Given the description of an element on the screen output the (x, y) to click on. 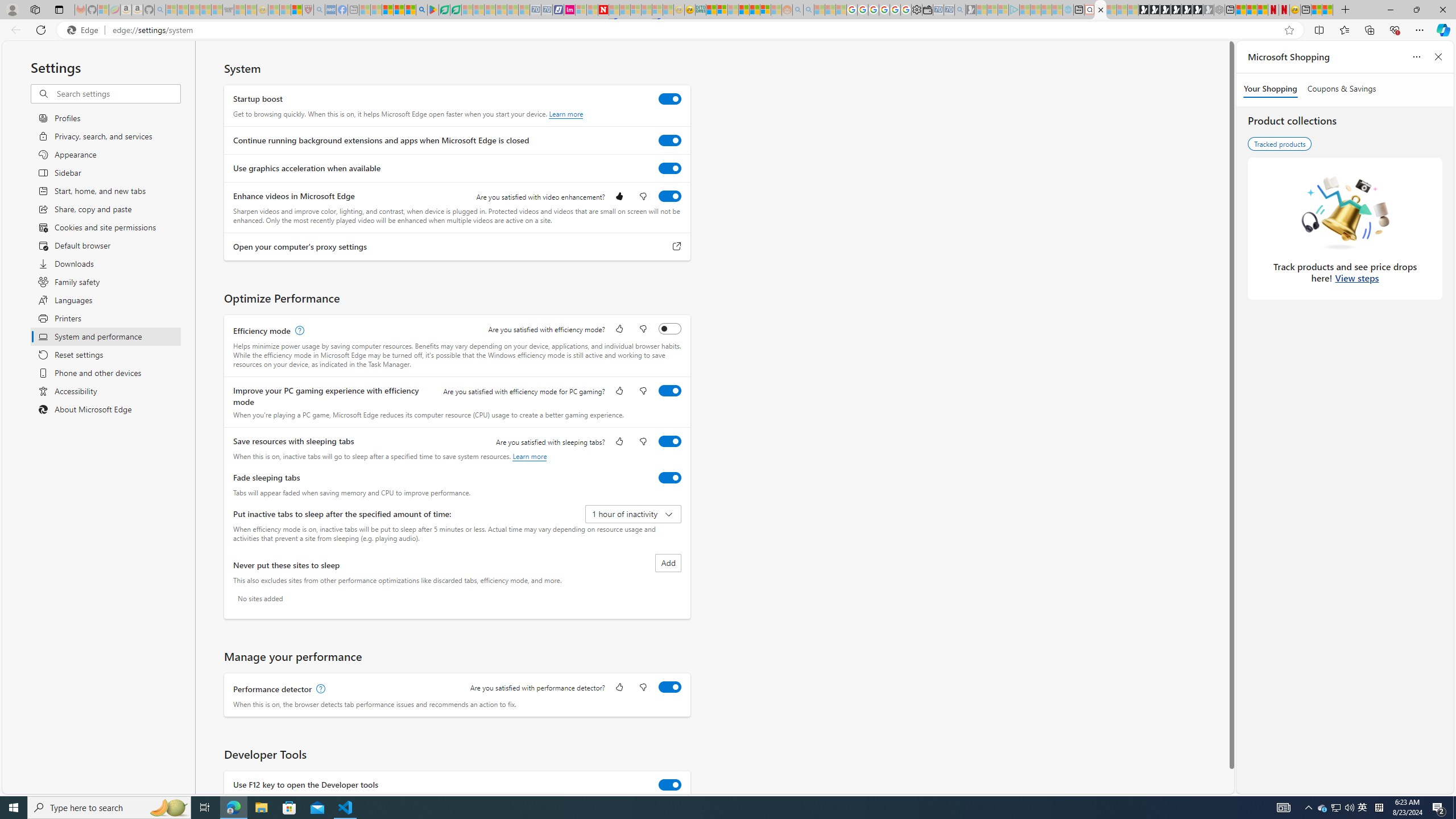
Open your computer's proxy settings (676, 246)
Microsoft Start Gaming - Sleeping (970, 9)
Latest Politics News & Archive | Newsweek.com (602, 9)
Bluey: Let's Play! - Apps on Google Play (433, 9)
Improve your PC gaming experience with efficiency mode (669, 390)
Like (619, 687)
